Given the description of an element on the screen output the (x, y) to click on. 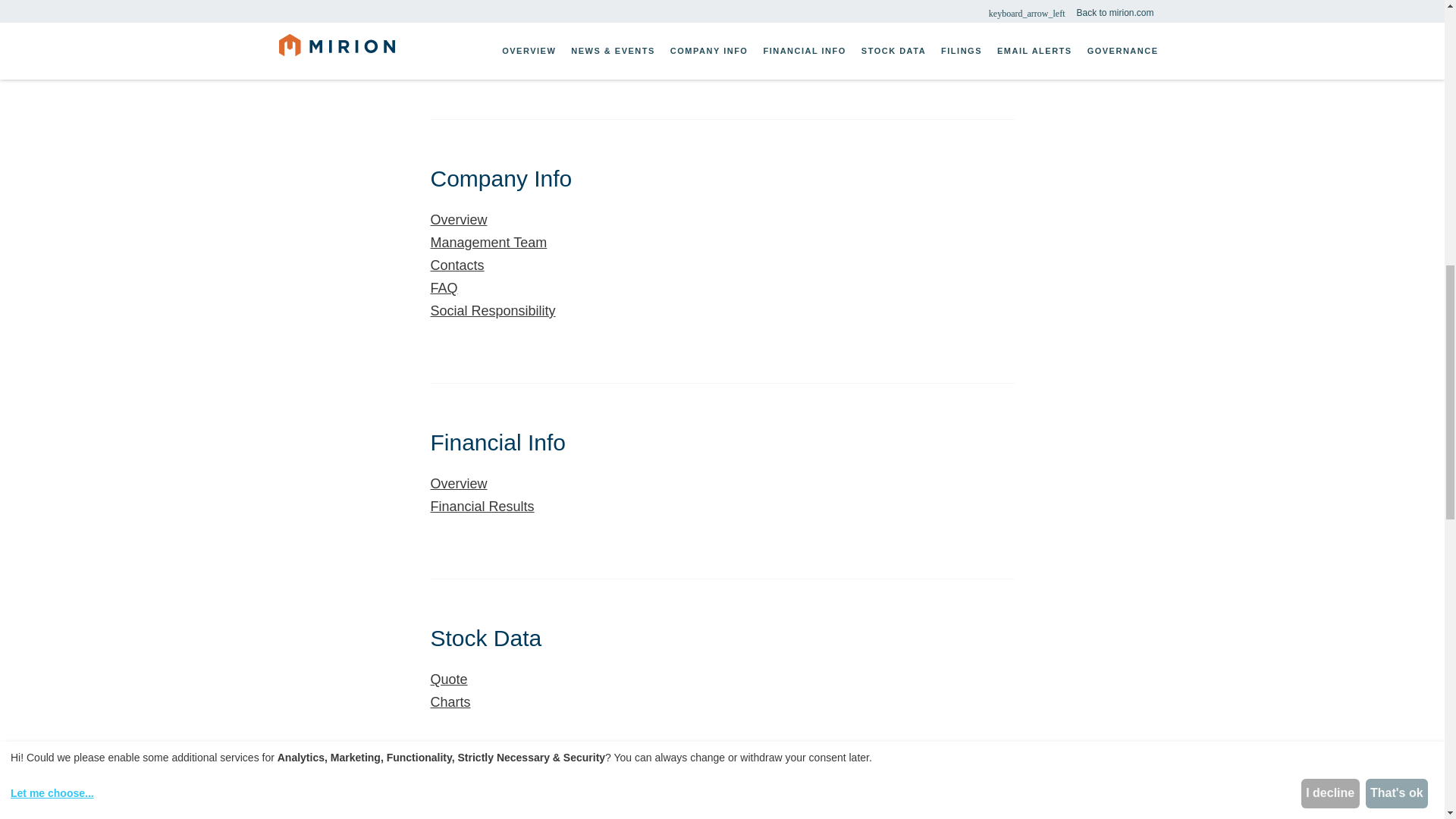
Opens in a new window (520, 310)
Press Releases (520, 24)
Overview (520, 6)
